Given the description of an element on the screen output the (x, y) to click on. 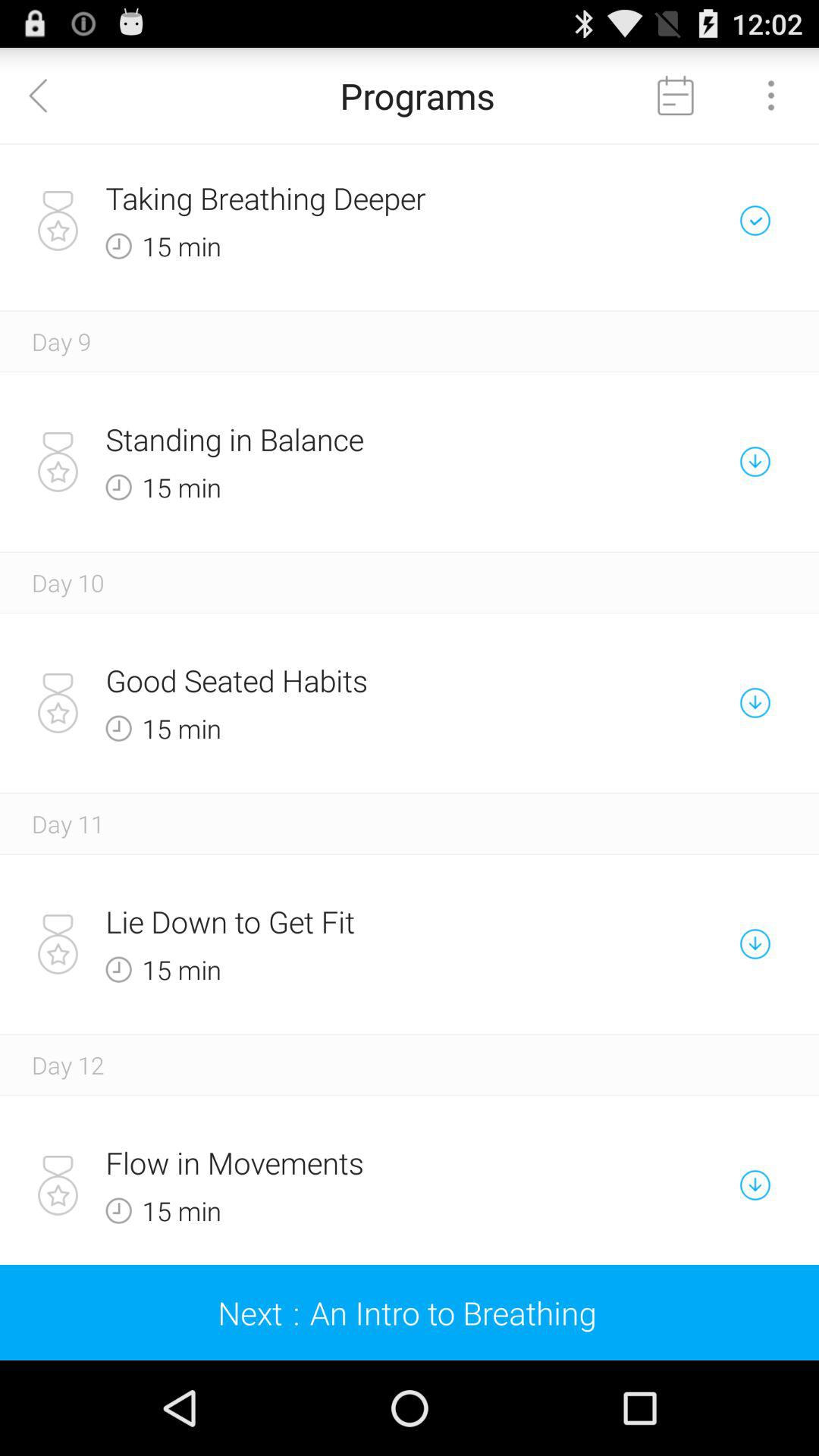
choose the item above 15 min (356, 680)
